Given the description of an element on the screen output the (x, y) to click on. 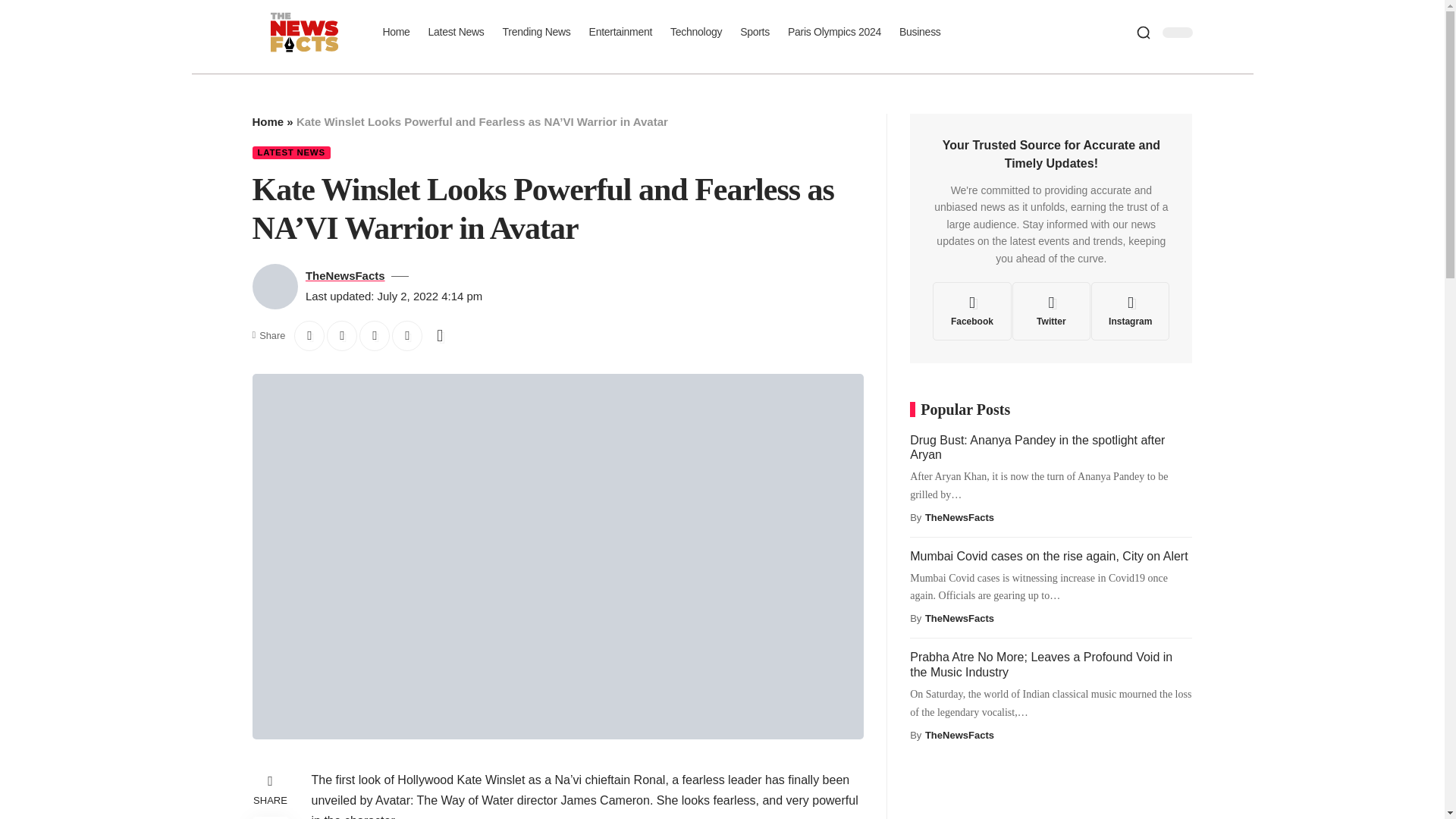
Home (267, 121)
LATEST NEWS (290, 151)
Business (919, 31)
Entertainment (620, 31)
Trending News (536, 31)
Technology (695, 31)
TheNewsFacts (345, 275)
Latest News (456, 31)
Sports (754, 31)
Paris Olympics 2024 (833, 31)
